Given the description of an element on the screen output the (x, y) to click on. 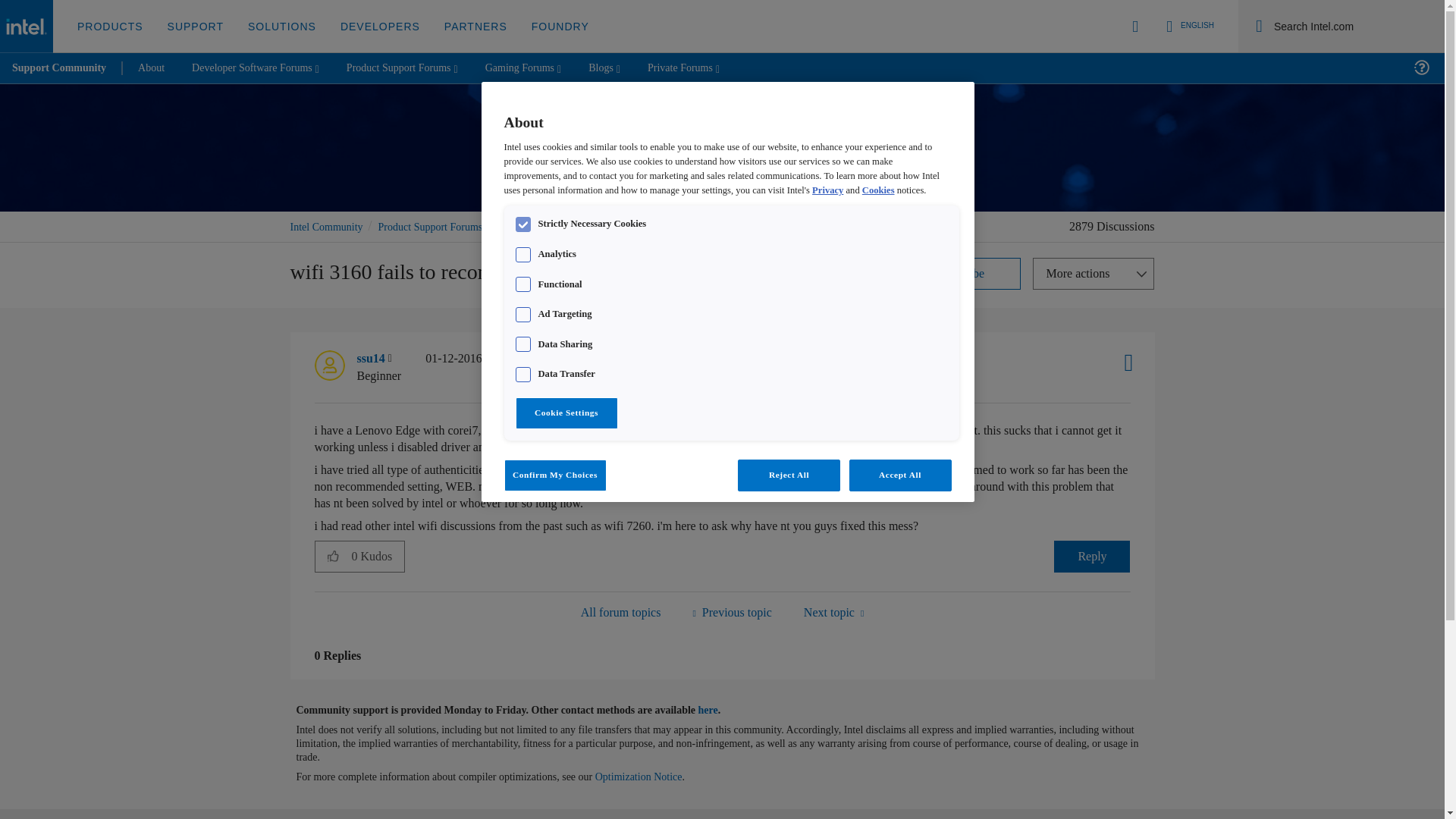
PRODUCTS (110, 26)
Language Selector (1187, 26)
ssu14 (328, 365)
The total number of kudos this post has received. (377, 556)
Click here to give kudos to this post. (332, 555)
Show option menu (1093, 273)
Posted on (488, 367)
